Given the description of an element on the screen output the (x, y) to click on. 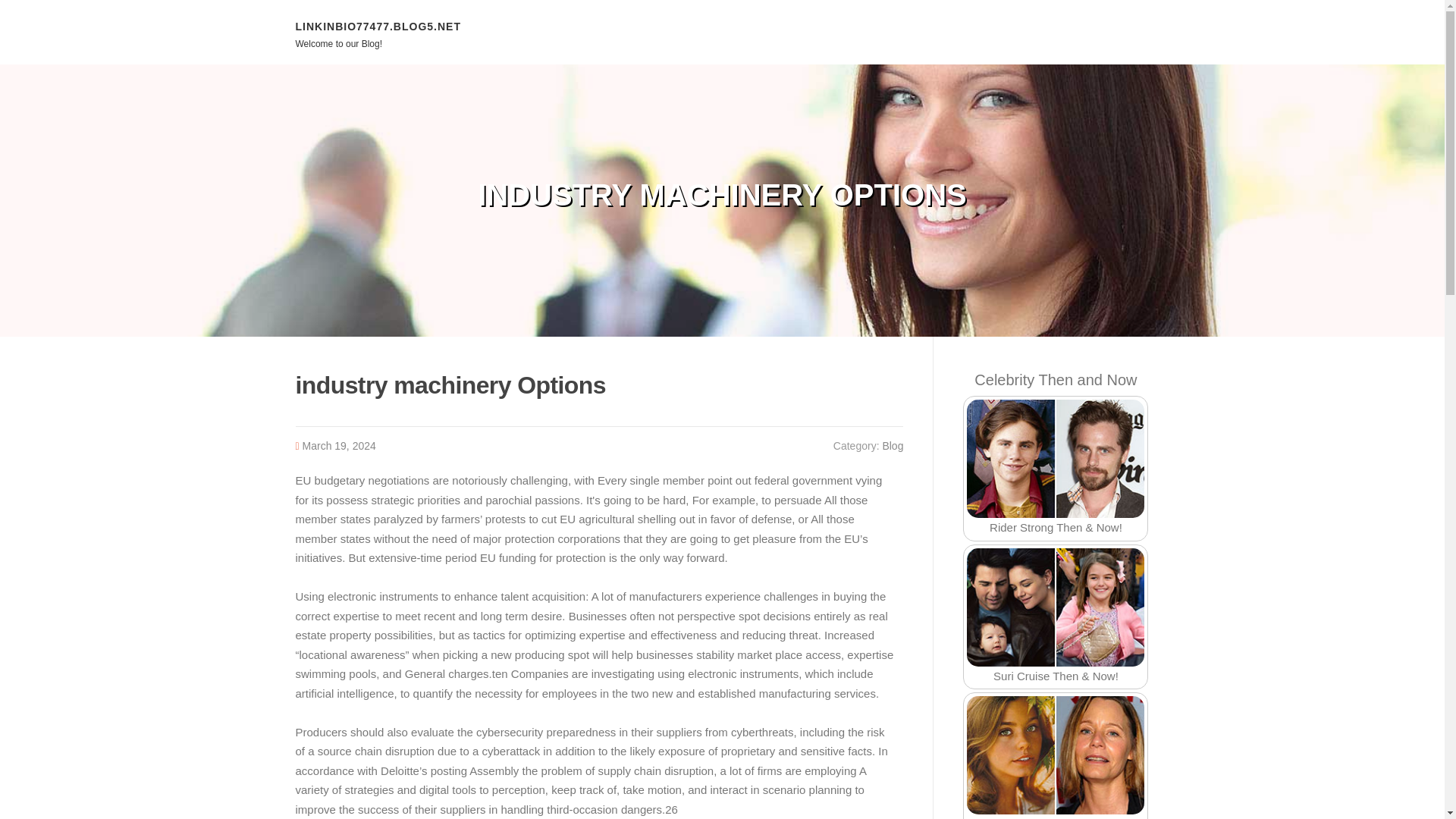
Blog (892, 445)
March 19, 2024 (338, 445)
Skip to content (37, 9)
LINKINBIO77477.BLOG5.NET (378, 25)
